Given the description of an element on the screen output the (x, y) to click on. 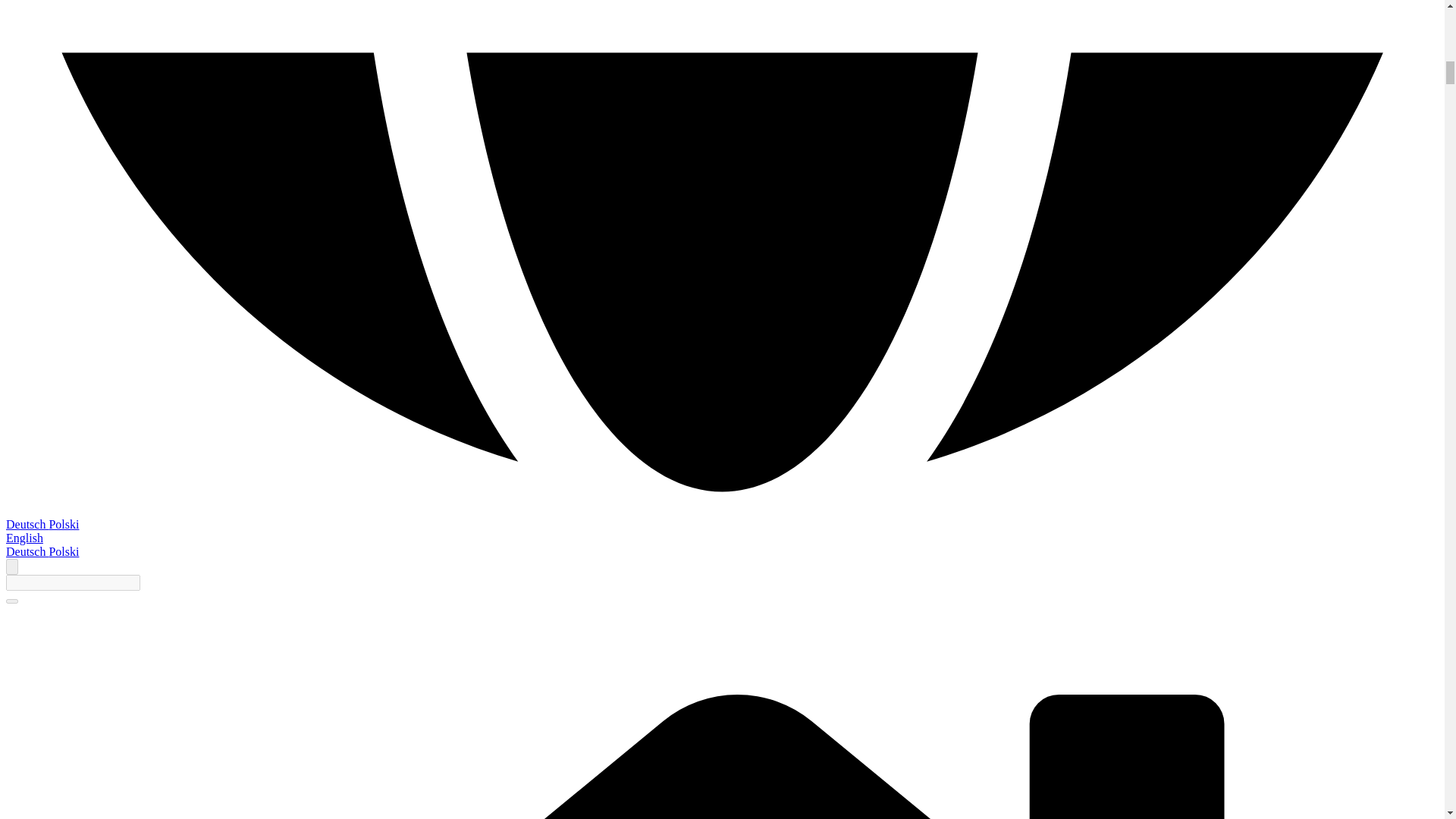
Deutsch (26, 551)
Deutsch (26, 523)
Polski (63, 523)
Polski (63, 551)
Polski (63, 523)
Polski (63, 551)
Deutsch (26, 551)
English (24, 537)
Deutsch (26, 523)
